Given the description of an element on the screen output the (x, y) to click on. 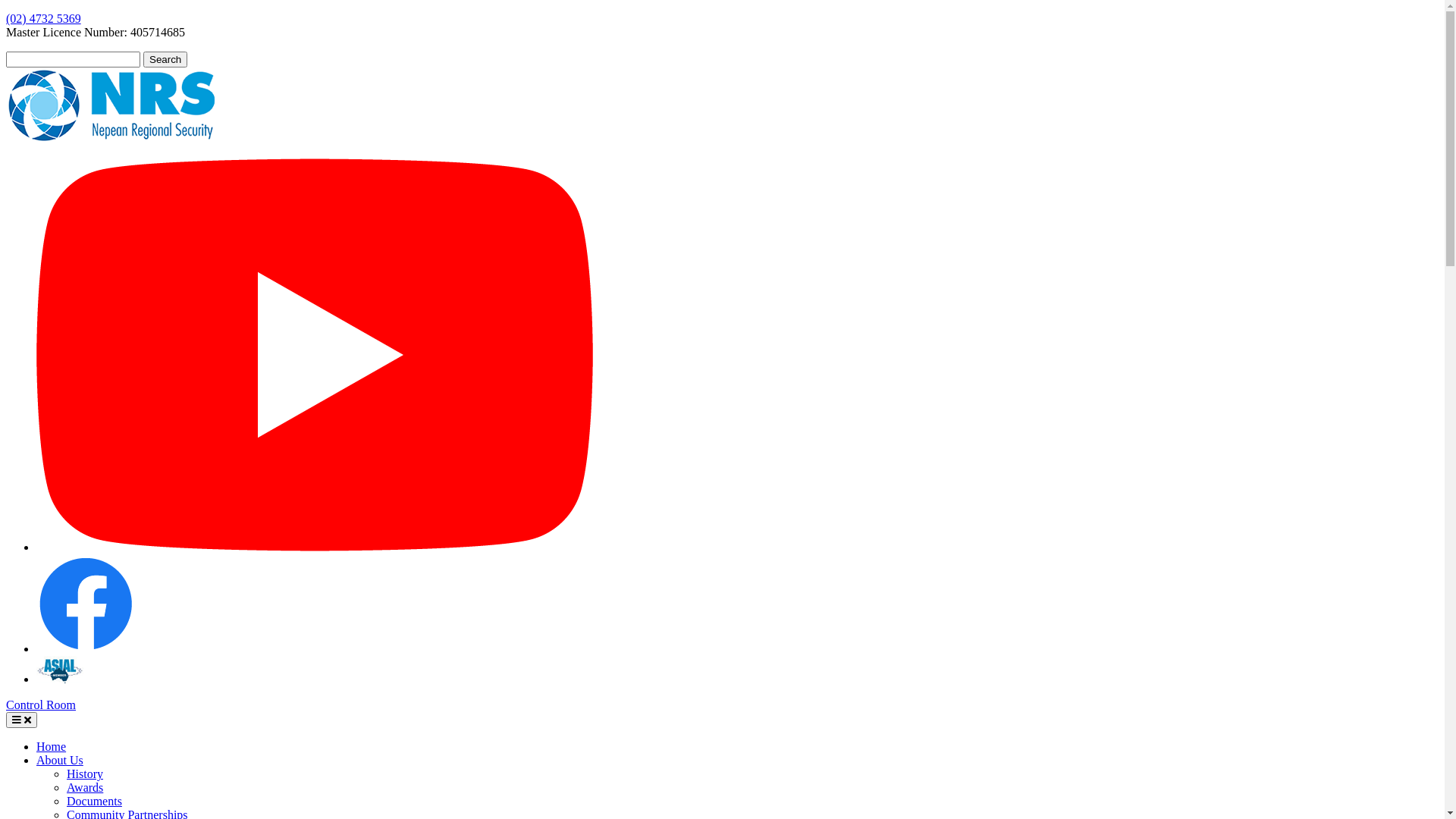
(02) 4732 5369 Element type: text (43, 18)
Nepean Regional Security Element type: hover (110, 138)
Control Room Element type: text (40, 704)
About Us Element type: text (59, 759)
History Element type: text (84, 773)
Home Element type: text (50, 746)
Documents Element type: text (94, 800)
Search Element type: text (165, 59)
Awards Element type: text (84, 787)
